Given the description of an element on the screen output the (x, y) to click on. 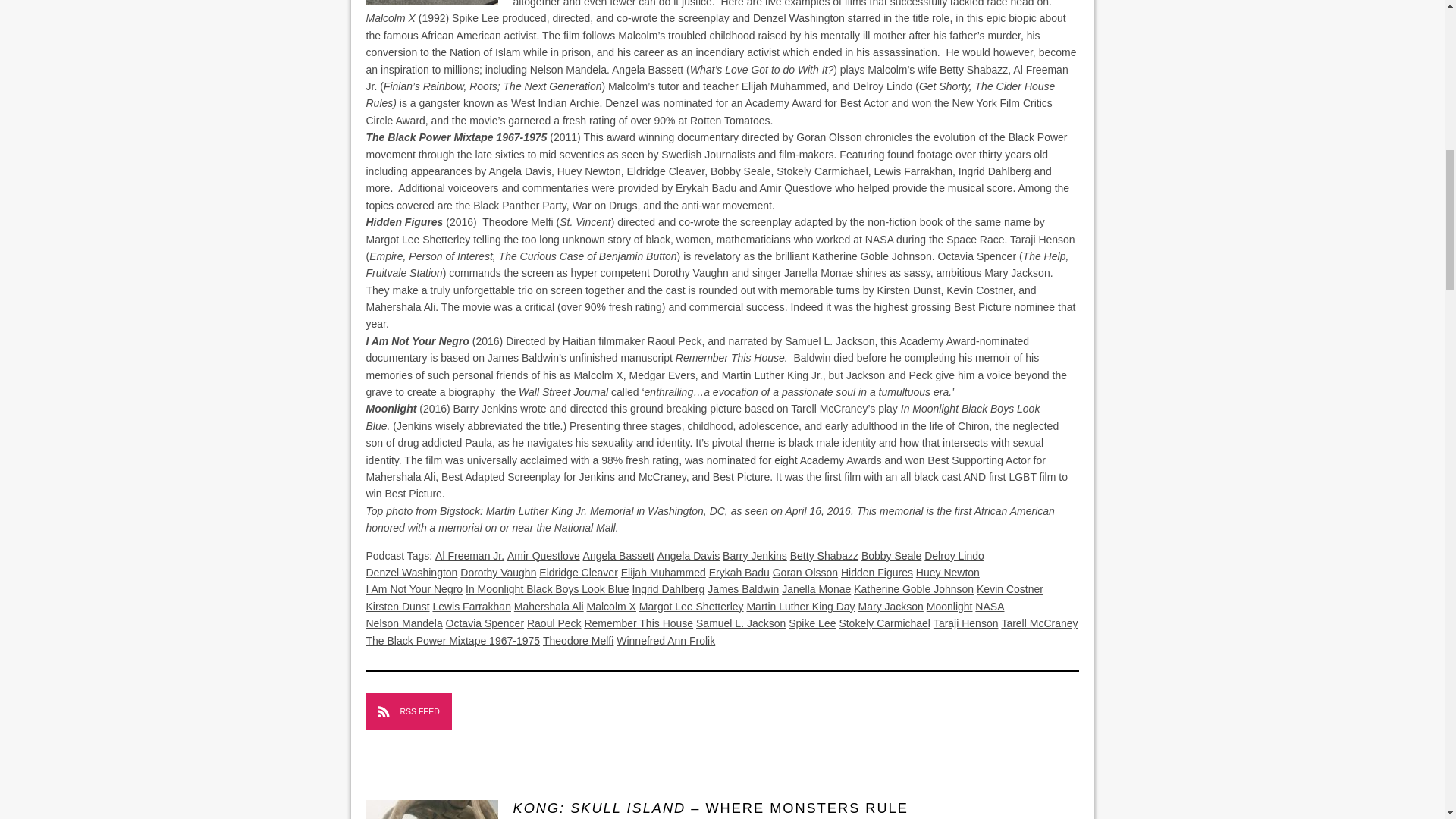
Angela Davis (689, 555)
Katherine Goble Johnson (913, 589)
Janella Monae (815, 589)
Delroy Lindo (954, 555)
Malcolm X (611, 606)
I Am Not Your Negro (414, 589)
Denzel Washington (411, 572)
Goran Olsson (805, 572)
Eldridge Cleaver (577, 572)
Al Freeman Jr. (469, 555)
